Given the description of an element on the screen output the (x, y) to click on. 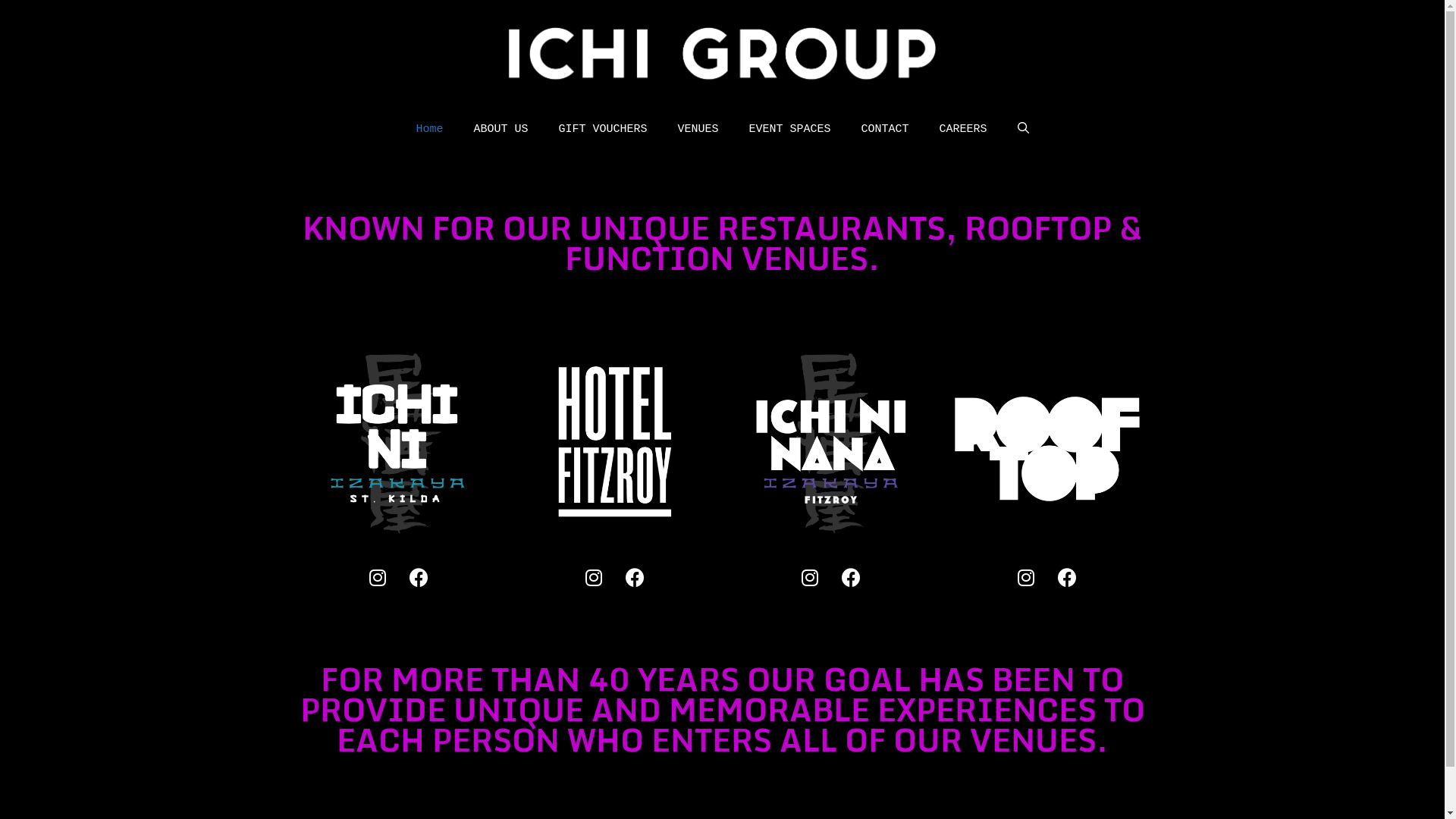
VENUES Element type: text (697, 129)
ABOUT US Element type: text (500, 129)
CAREERS Element type: text (963, 129)
CONTACT Element type: text (885, 129)
GIFT VOUCHERS Element type: text (602, 129)
Home Element type: text (429, 129)
EVENT SPACES Element type: text (790, 129)
